Given the description of an element on the screen output the (x, y) to click on. 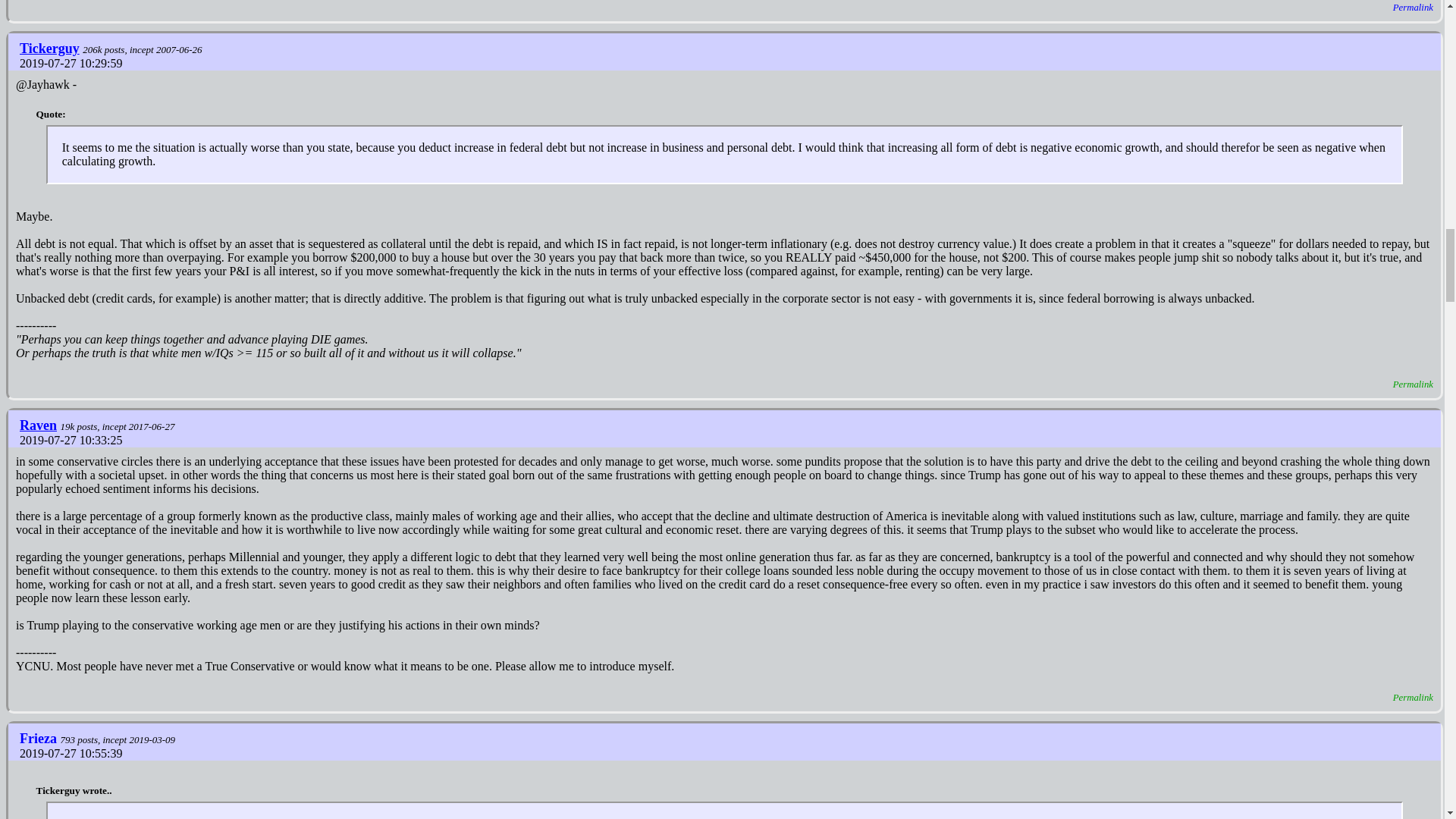
Logged in (51, 48)
Logged in (40, 425)
